Given the description of an element on the screen output the (x, y) to click on. 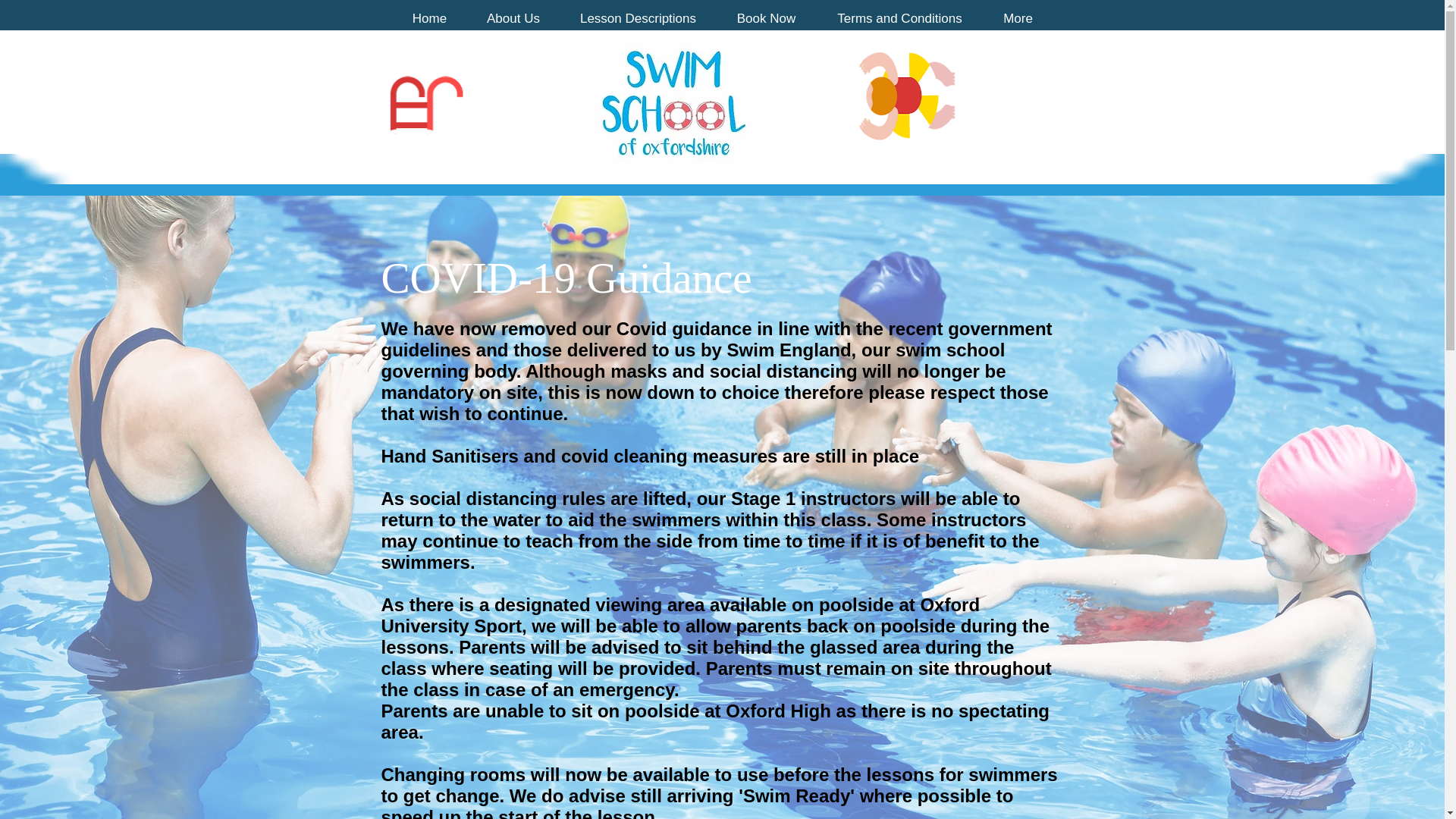
Book Now (765, 16)
Lesson Descriptions (637, 16)
Terms and Conditions (899, 16)
Home (429, 16)
About Us (513, 16)
